Given the description of an element on the screen output the (x, y) to click on. 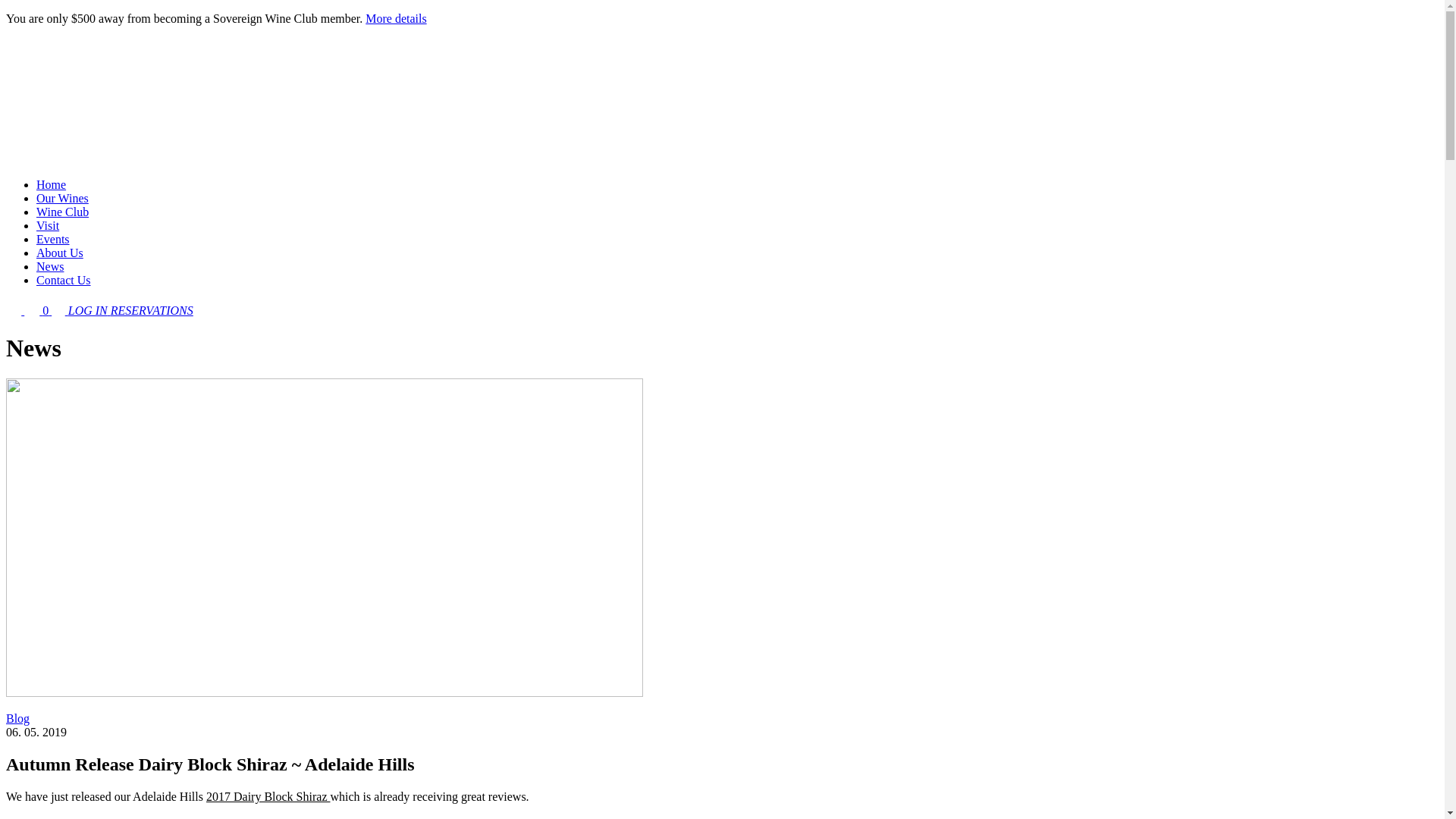
News Element type: text (49, 266)
Blog Element type: text (17, 718)
2017 Dairy Block Shiraz  Element type: text (268, 796)
Contact Us Element type: text (63, 279)
About Us Element type: text (59, 252)
Wine Club Element type: text (62, 211)
More details Element type: text (395, 18)
Home Element type: text (50, 184)
Our Wines Element type: text (62, 197)
Events Element type: text (52, 238)
RESERVATIONS Element type: text (151, 310)
Visit Element type: text (47, 225)
